Given the description of an element on the screen output the (x, y) to click on. 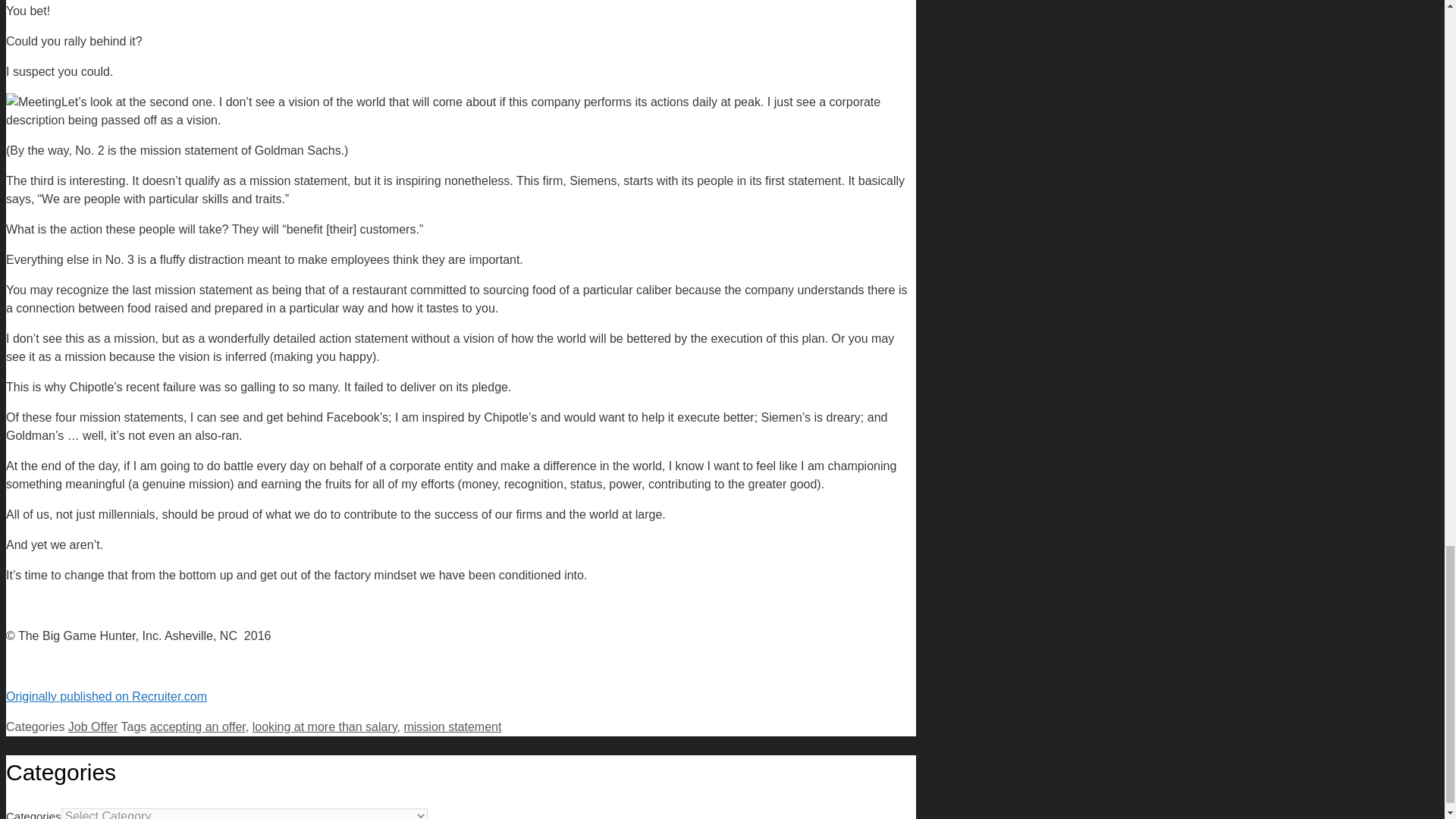
accepting an offer (197, 726)
mission statement (451, 726)
Originally published on Recruiter.com (105, 696)
looking at more than salary (324, 726)
Job Offer (92, 726)
